Given the description of an element on the screen output the (x, y) to click on. 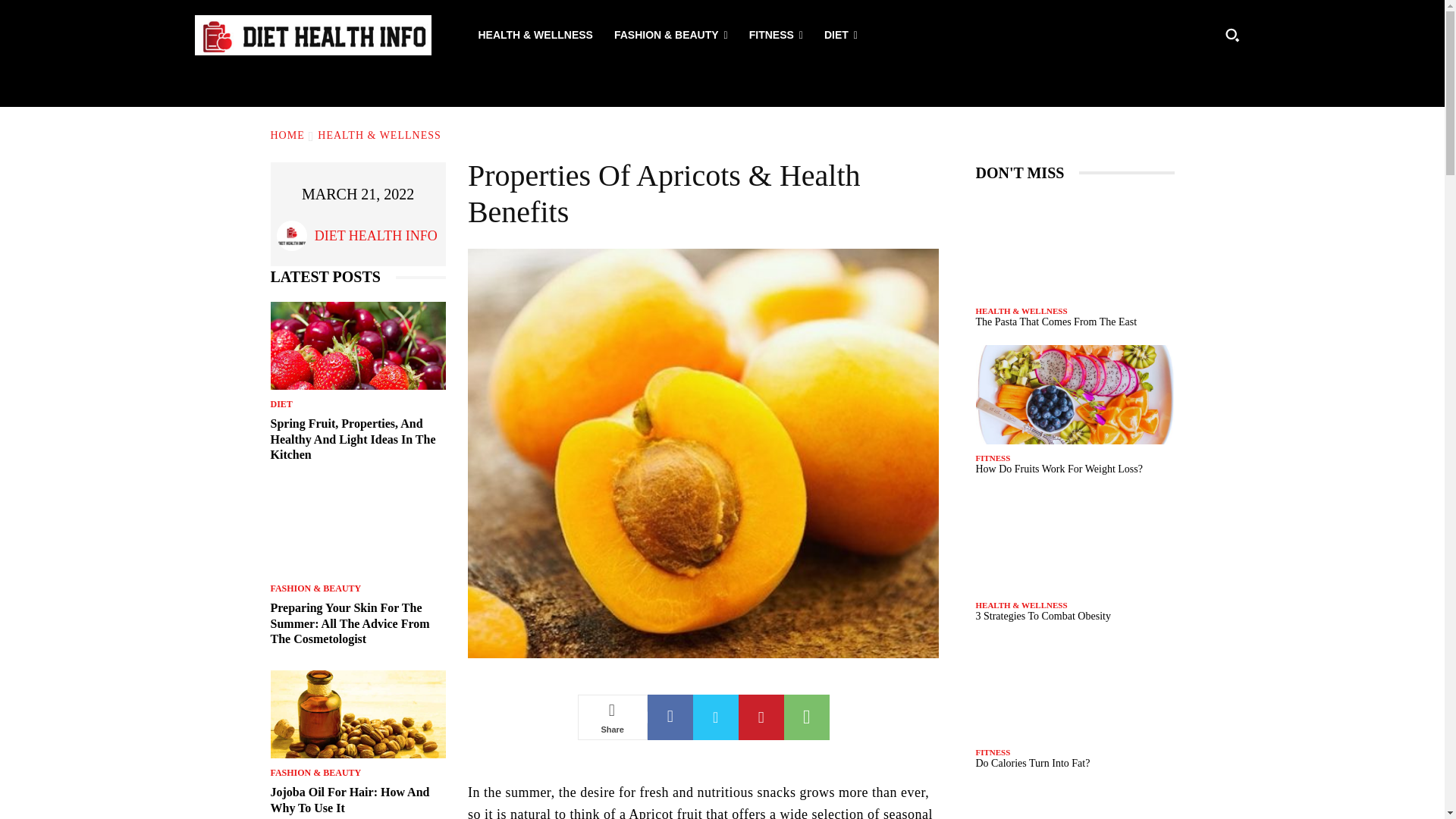
Diet Health Info (295, 235)
